Given the description of an element on the screen output the (x, y) to click on. 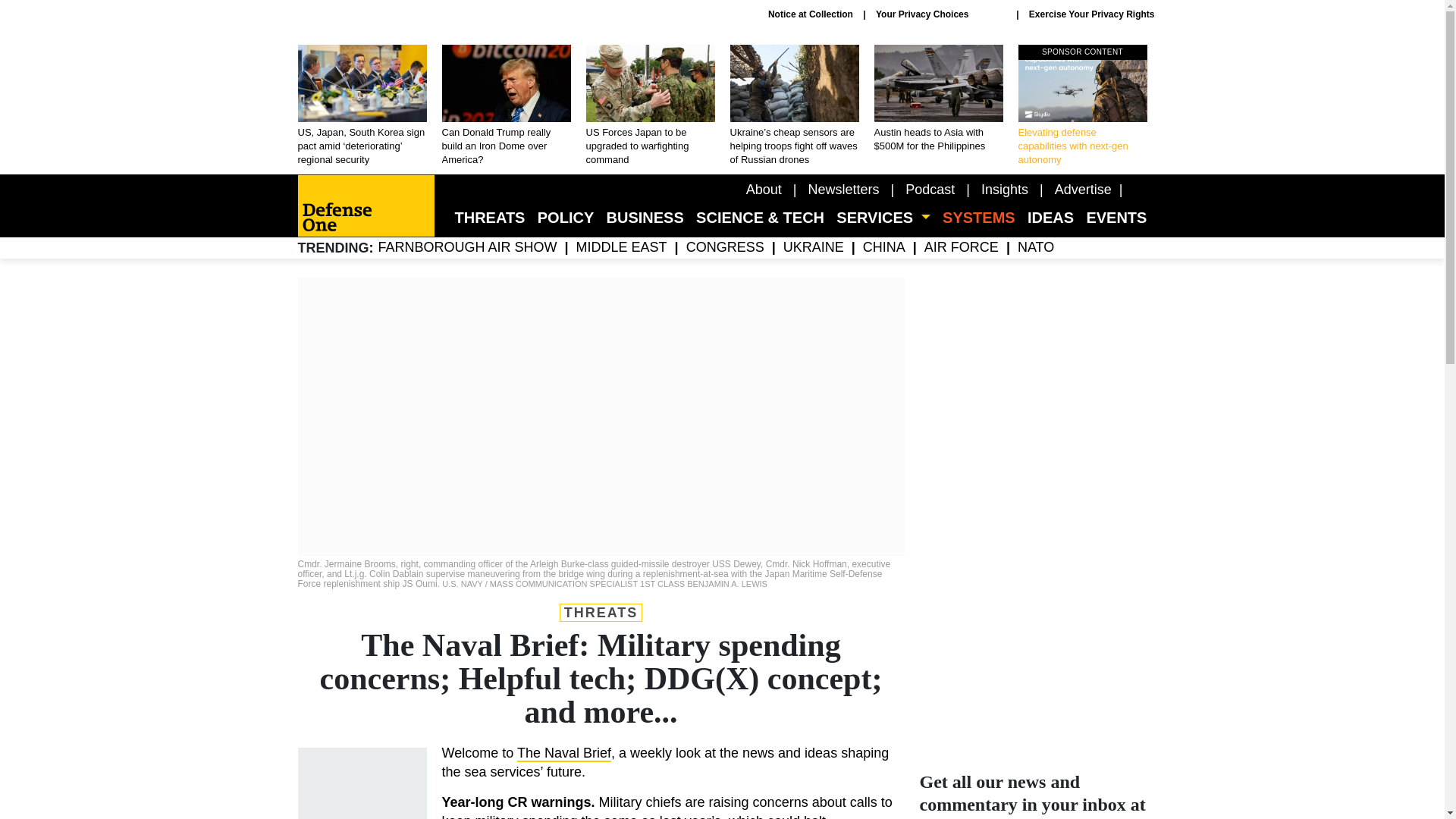
About (763, 189)
Advertise (1083, 189)
Notice at Collection (810, 14)
Podcast (930, 189)
Newsletters (843, 189)
Exercise Your Privacy Rights (1091, 14)
US Forces Japan to be upgraded to warfighting command (649, 106)
Can Donald Trump really build an Iron Dome over America? (505, 106)
